Given the description of an element on the screen output the (x, y) to click on. 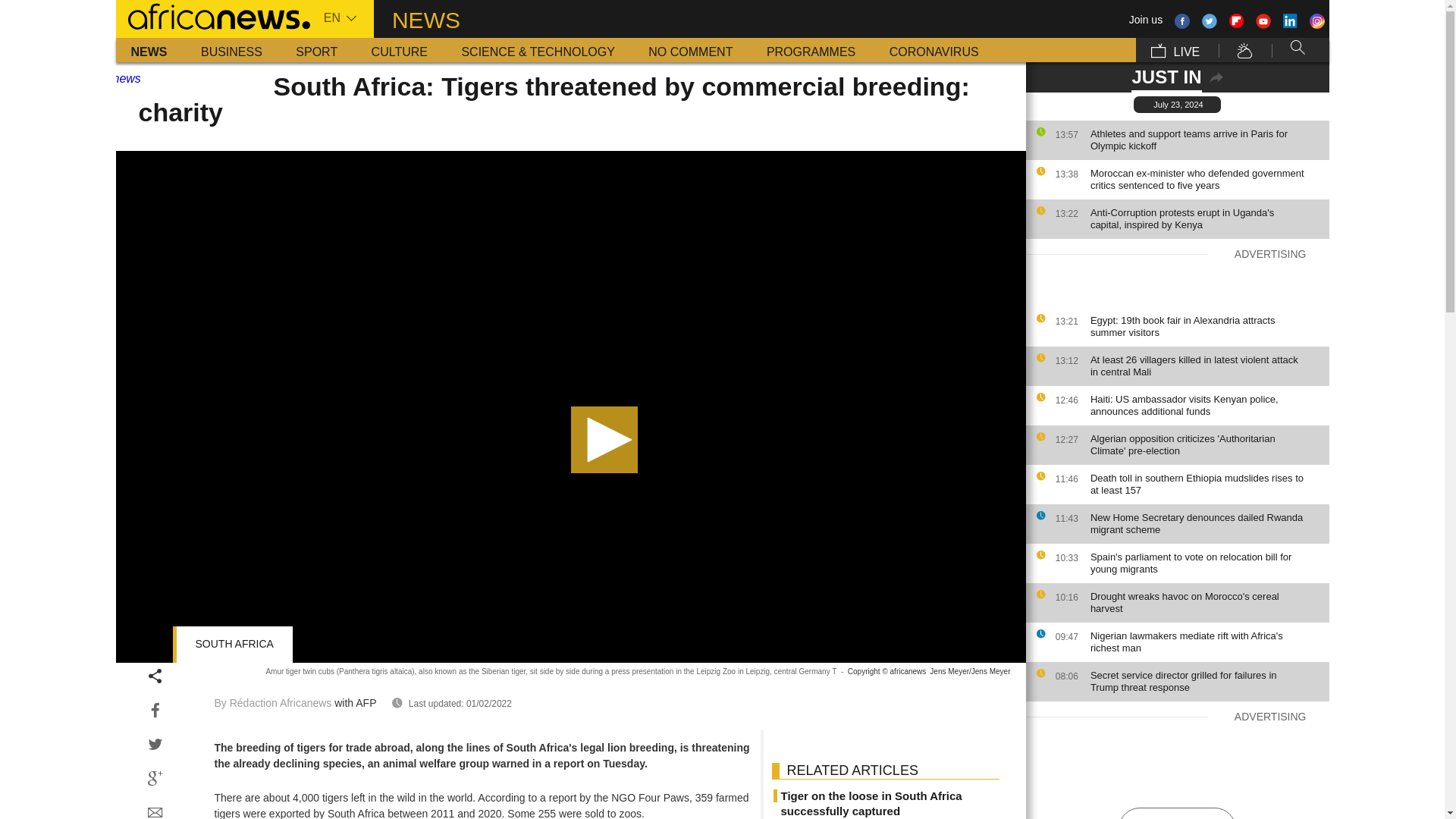
Business (232, 49)
LIVE (1174, 49)
Coronavirus (934, 49)
Africanews (211, 15)
SPORT (316, 49)
No Comment (690, 49)
Programmes (810, 49)
PROGRAMMES (810, 49)
CORONAVIRUS (934, 49)
Egypt: 19th book fair in Alexandria attracts summer visitors (1206, 326)
NEWS (148, 49)
